Given the description of an element on the screen output the (x, y) to click on. 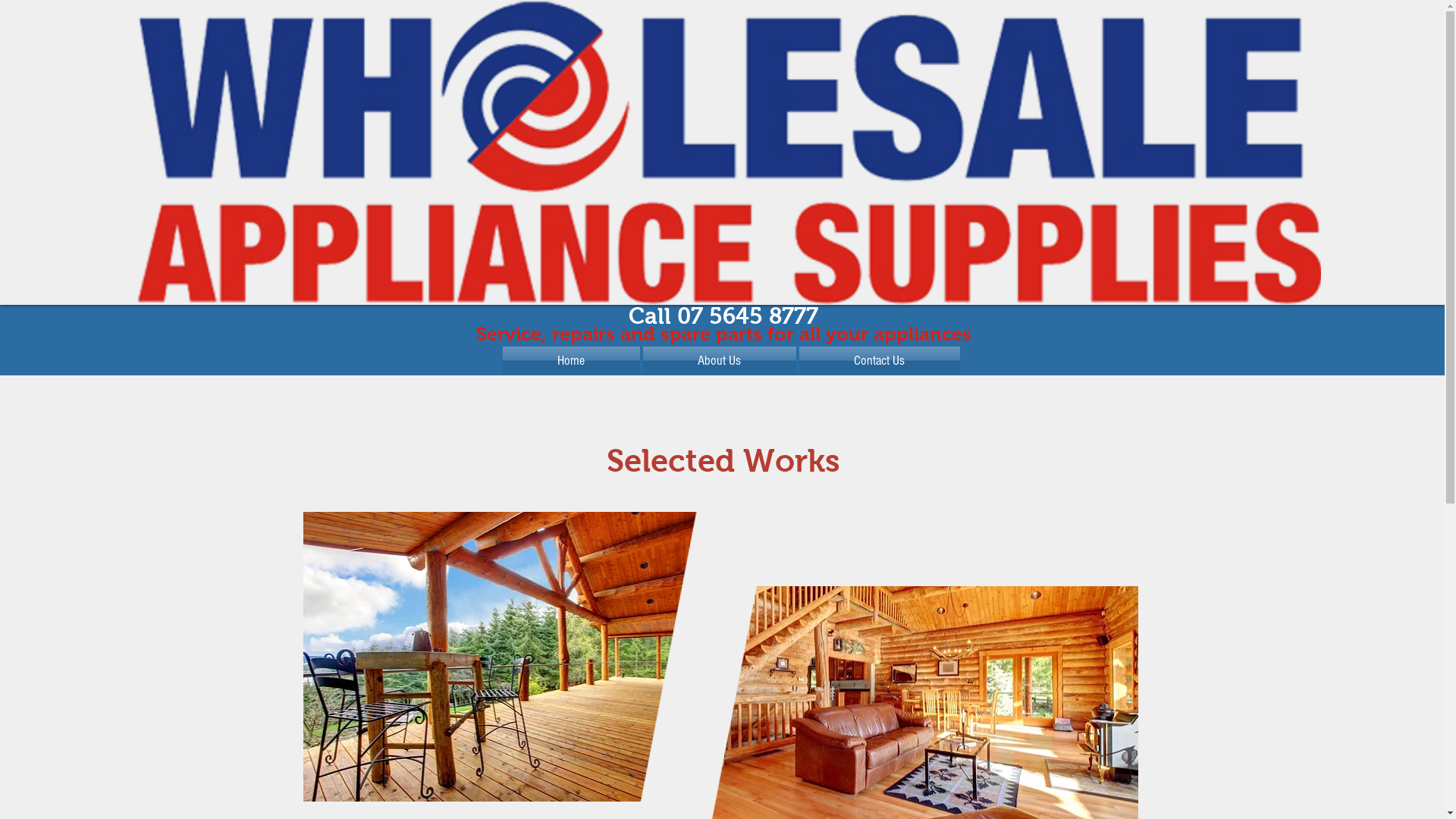
About Us Element type: text (719, 360)
Contact Us Element type: text (878, 360)
Home Element type: text (571, 360)
